Given the description of an element on the screen output the (x, y) to click on. 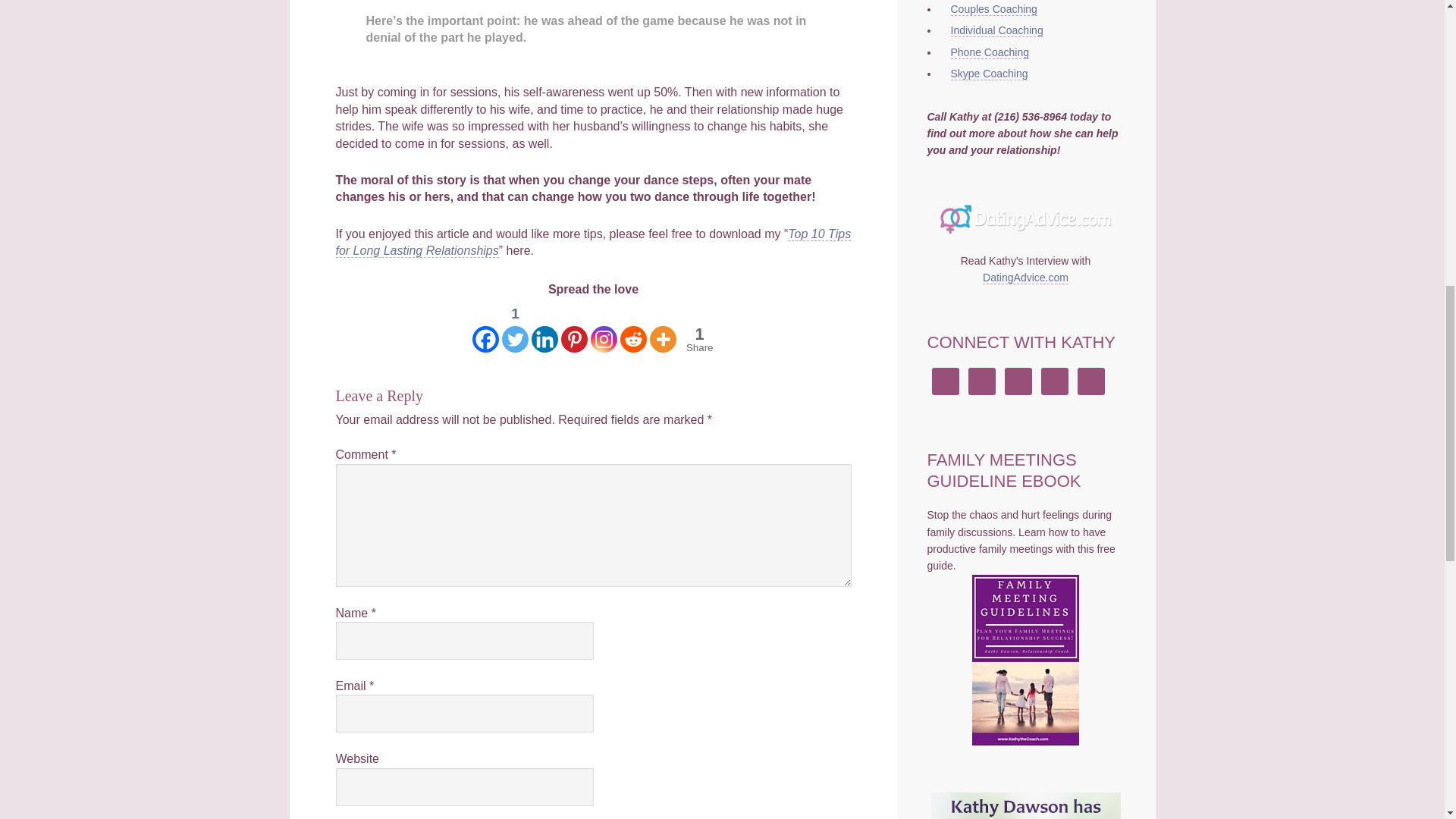
Couples Coaching (993, 9)
Individual Coaching (996, 30)
Total Shares (699, 338)
Top 10 Tips for Long Lasting Relationships (592, 242)
